Given the description of an element on the screen output the (x, y) to click on. 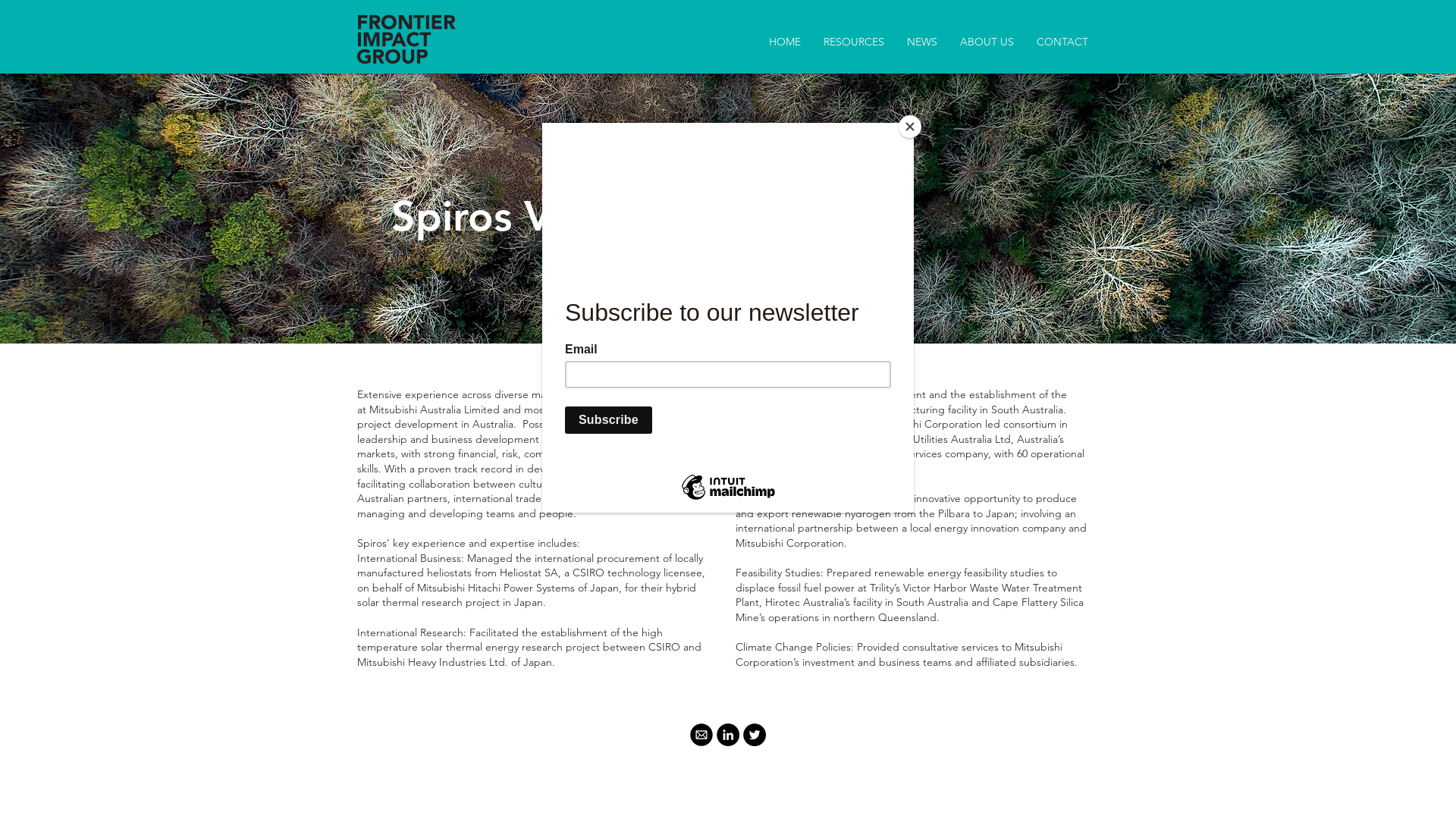
ABOUT US Element type: text (986, 41)
CONTACT Element type: text (1062, 41)
NEWS Element type: text (921, 41)
HOME Element type: text (784, 41)
RESOURCES Element type: text (853, 41)
